Given the description of an element on the screen output the (x, y) to click on. 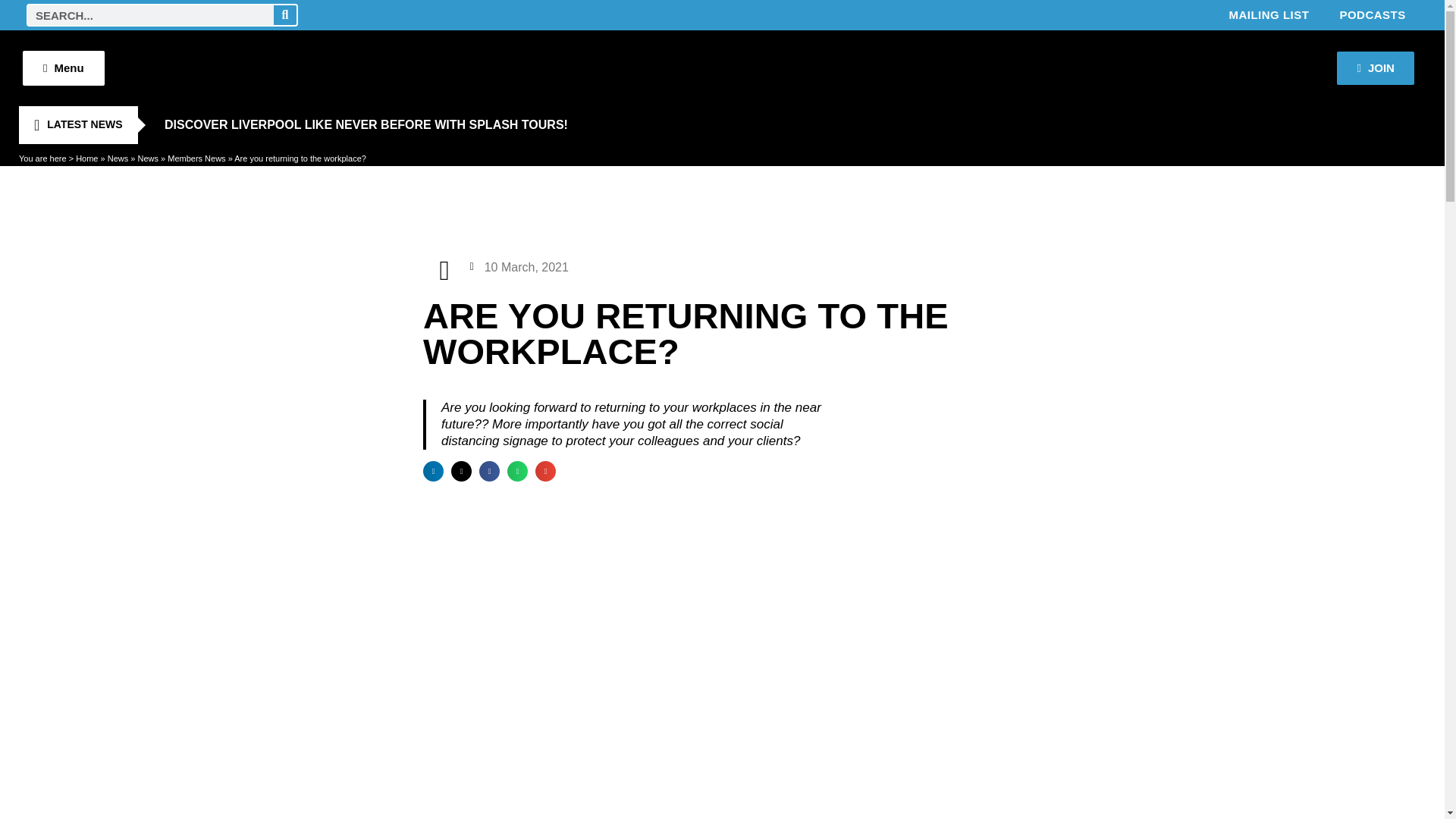
Skip to content (11, 31)
10 March, 2021 (519, 267)
News (147, 157)
Members News (196, 157)
News (118, 157)
LATEST NEWS (77, 125)
Menu (63, 67)
JOIN (1374, 68)
PODCASTS (1372, 15)
MAILING LIST (1267, 15)
DISCOVER LIVERPOOL LIKE NEVER BEFORE WITH SPLASH TOURS! (365, 125)
Home (86, 157)
